Given the description of an element on the screen output the (x, y) to click on. 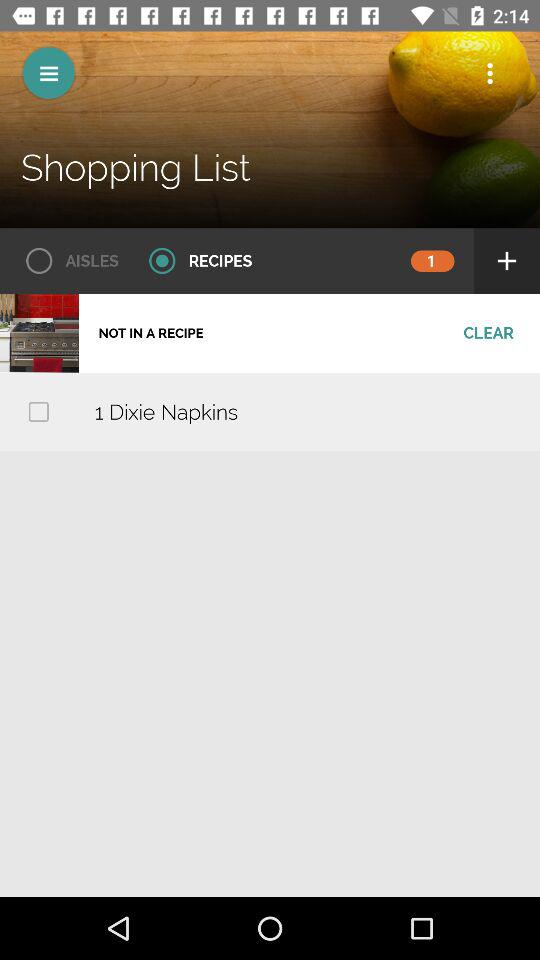
tap on clear shown below  (488, 332)
